Given the description of an element on the screen output the (x, y) to click on. 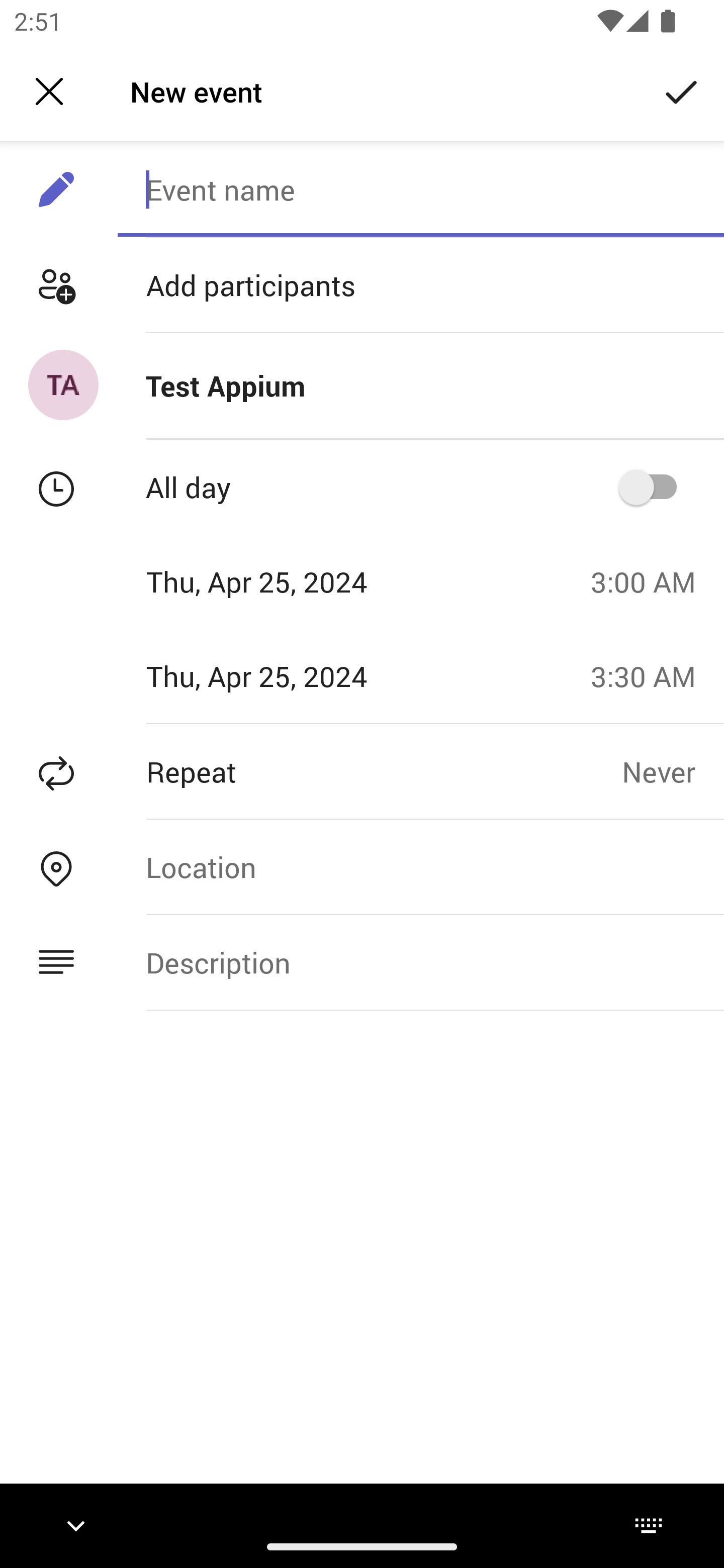
Back (49, 91)
Send invite (681, 90)
Event name (420, 189)
Add participants Add participants option (362, 285)
All day (654, 486)
Thu, Apr 25, 2024 Starts Thursday Apr 25, 2024 (288, 581)
3:00 AM Start time 3:00 AM (650, 581)
Thu, Apr 25, 2024 Ends Thursday Apr 25, 2024 (288, 675)
3:30 AM End time 3:30 AM (650, 675)
Repeat (310, 771)
Never Repeat Never (672, 771)
Location (420, 867)
Description (420, 962)
